Given the description of an element on the screen output the (x, y) to click on. 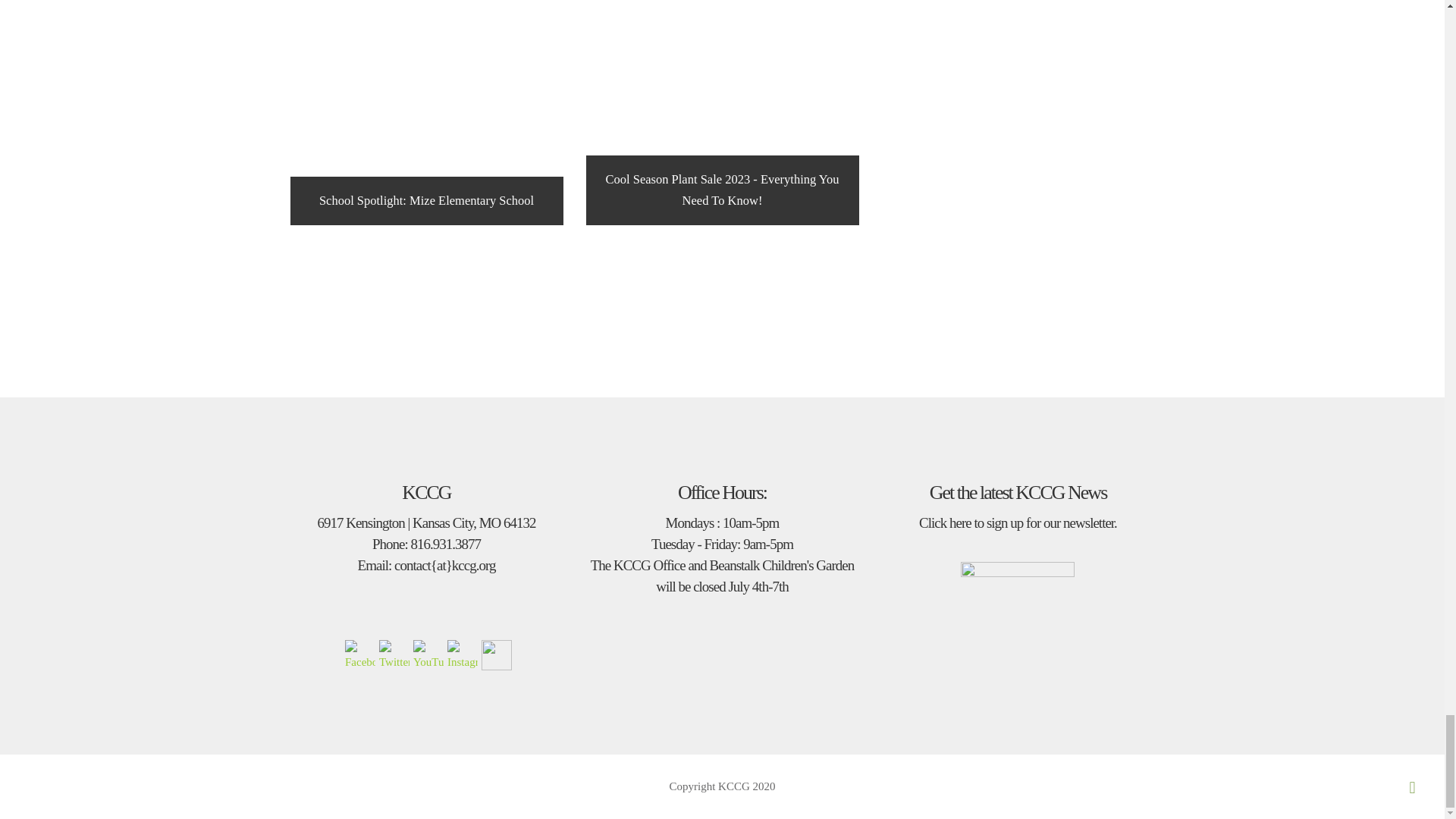
School Spotlight: Mize Elementary School (425, 112)
Facebook (360, 655)
YouTube (428, 655)
Twitter (393, 655)
Instagram (461, 655)
Cool Season Plant Sale 2023 - Everything You Need To Know! (722, 112)
